Given the description of an element on the screen output the (x, y) to click on. 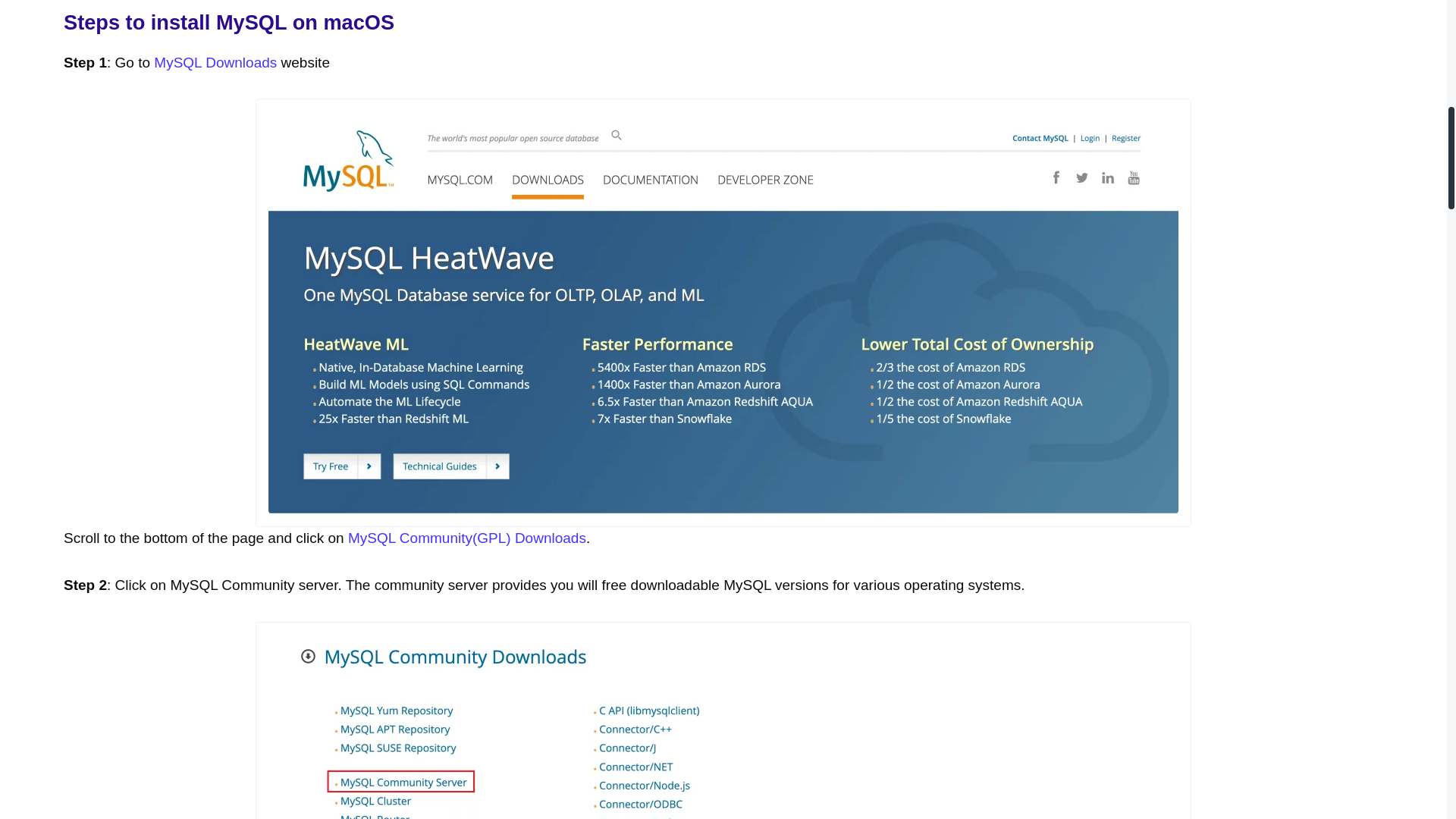
MySQL Downloads (215, 62)
